Given the description of an element on the screen output the (x, y) to click on. 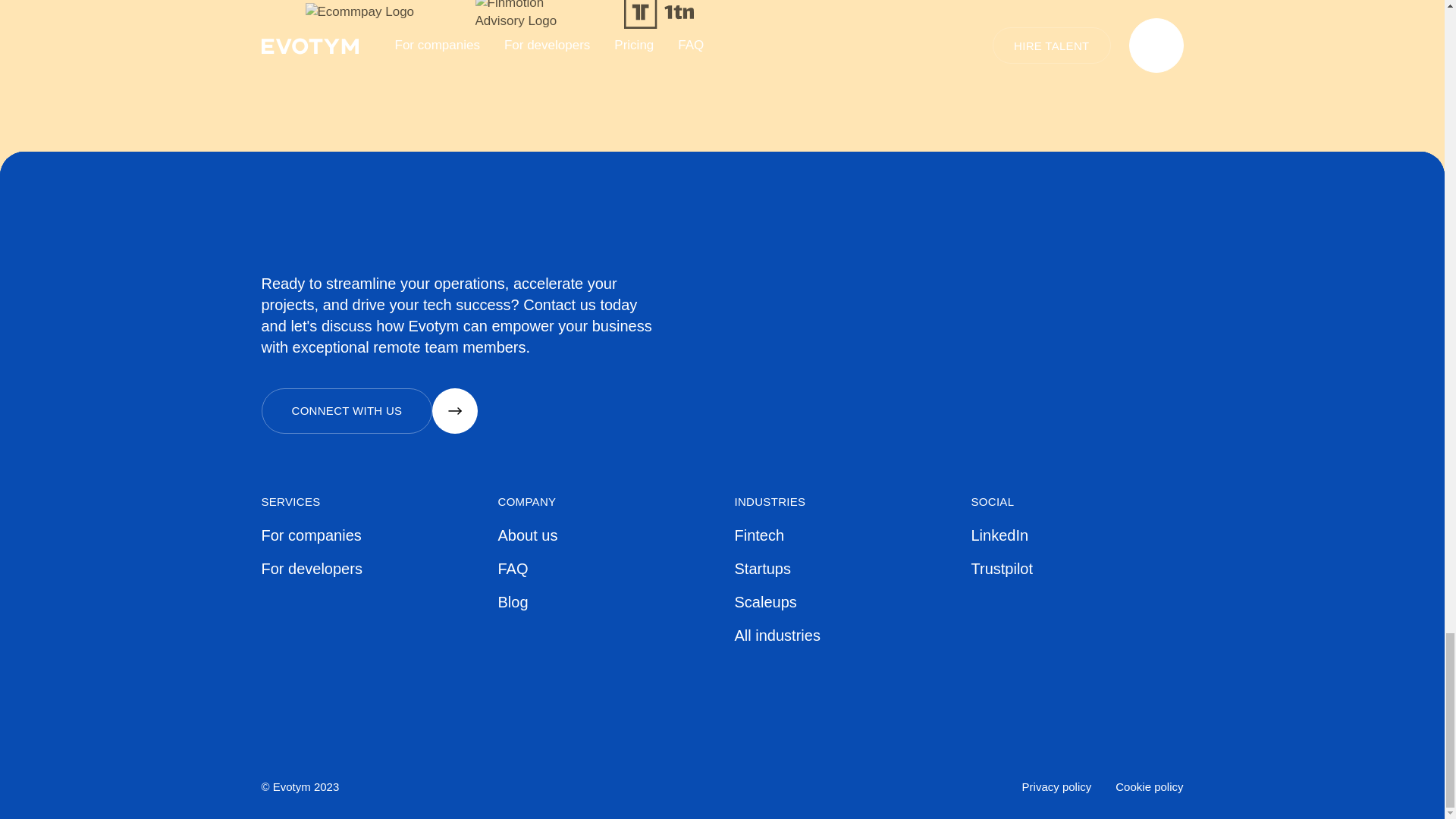
About us (603, 535)
For developers (366, 568)
All industries (839, 635)
CONNECT WITH US (368, 411)
Startups (839, 568)
Trustpilot (1076, 568)
Cookie policy (1148, 786)
Privacy policy (1057, 786)
Scaleups (839, 601)
Blog (603, 601)
